Given the description of an element on the screen output the (x, y) to click on. 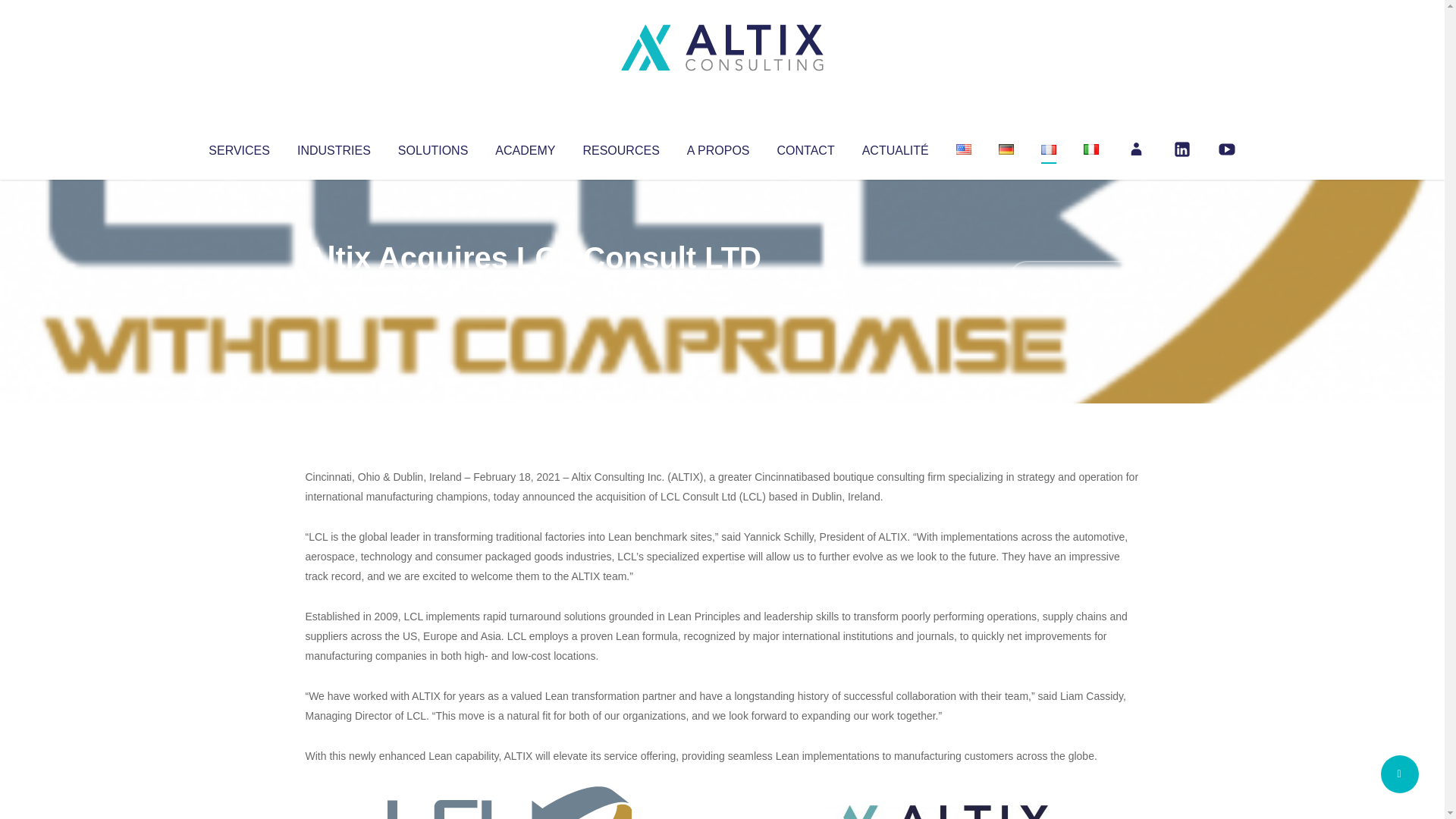
Altix (333, 287)
No Comments (1073, 278)
SERVICES (238, 146)
Uncategorized (530, 287)
ACADEMY (524, 146)
INDUSTRIES (334, 146)
SOLUTIONS (432, 146)
A PROPOS (718, 146)
Articles par Altix (333, 287)
RESOURCES (620, 146)
